Given the description of an element on the screen output the (x, y) to click on. 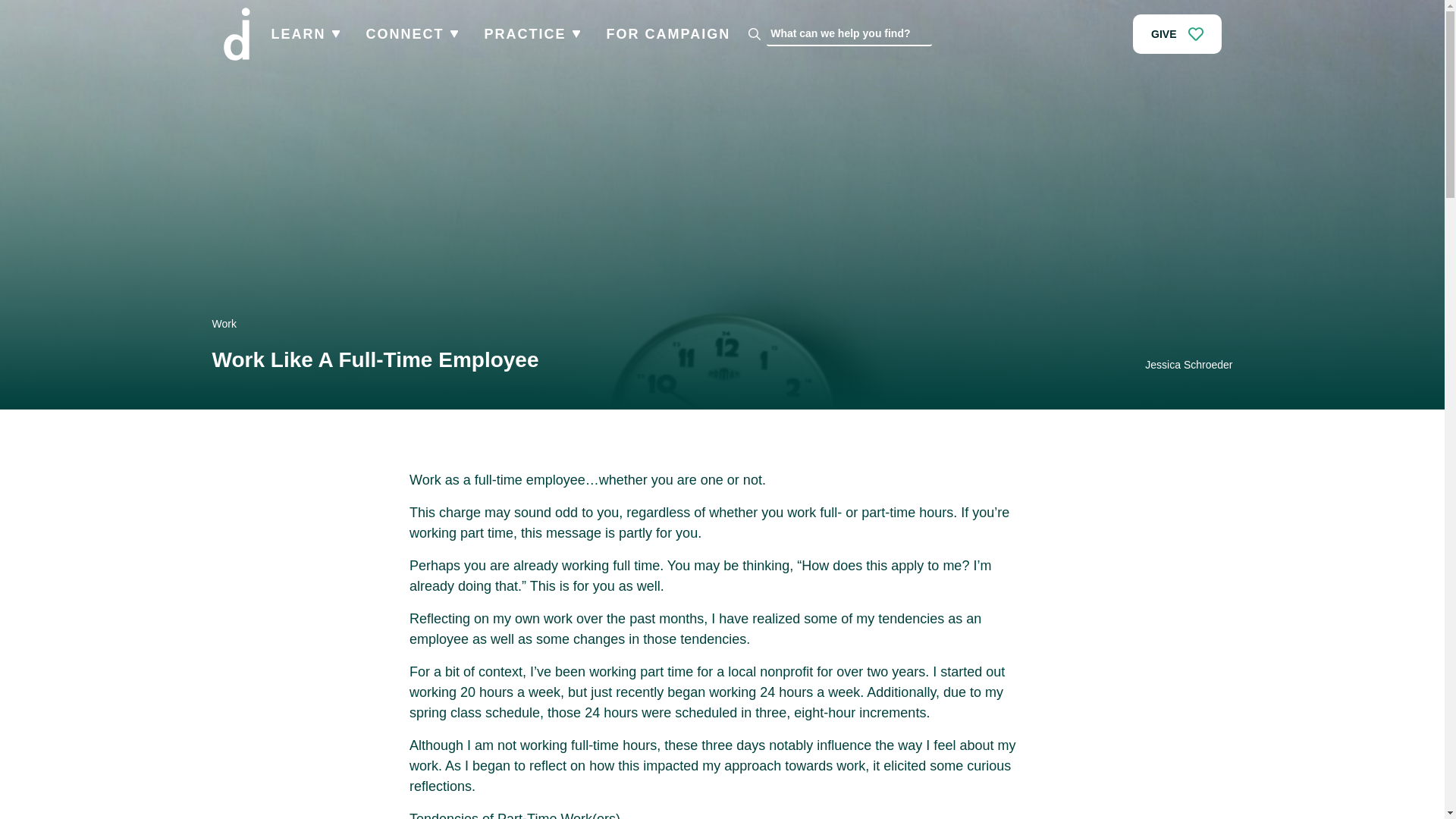
GIVE (1176, 34)
CONNECT (404, 33)
PRACTICE (524, 33)
LEARN (298, 33)
FOR CAMPAIGN (668, 33)
